Given the description of an element on the screen output the (x, y) to click on. 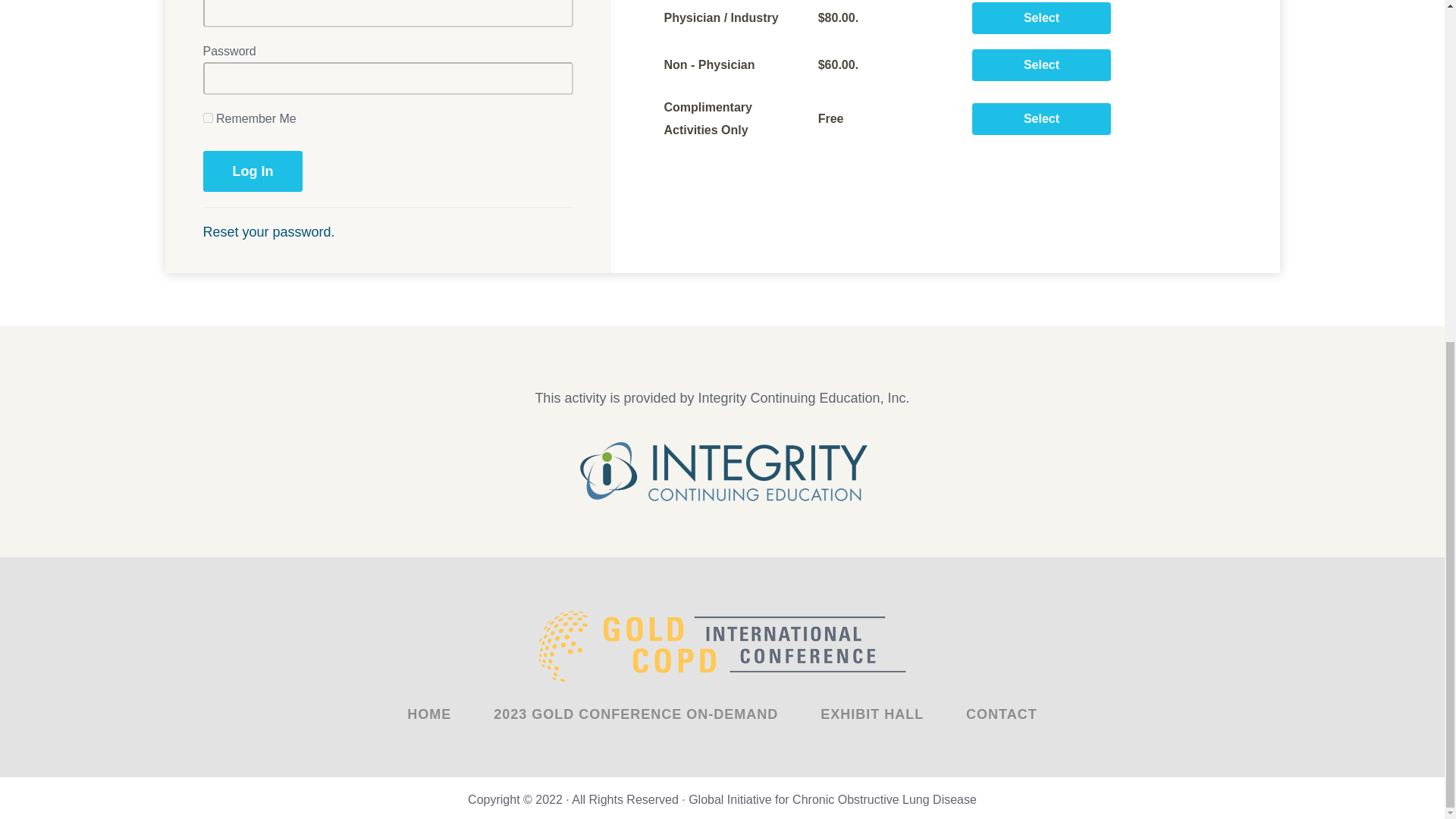
Exhibit Hall (872, 714)
Home (429, 714)
Select (1041, 119)
forever (207, 117)
EXHIBIT HALL (872, 714)
2023 GOLD Conference On-Demand (635, 714)
2023 GOLD CONFERENCE ON-DEMAND (635, 714)
Reset your password. (268, 231)
Global Initiative for Chronic Obstructive Lung Disease (832, 799)
Contact (1001, 714)
